Given the description of an element on the screen output the (x, y) to click on. 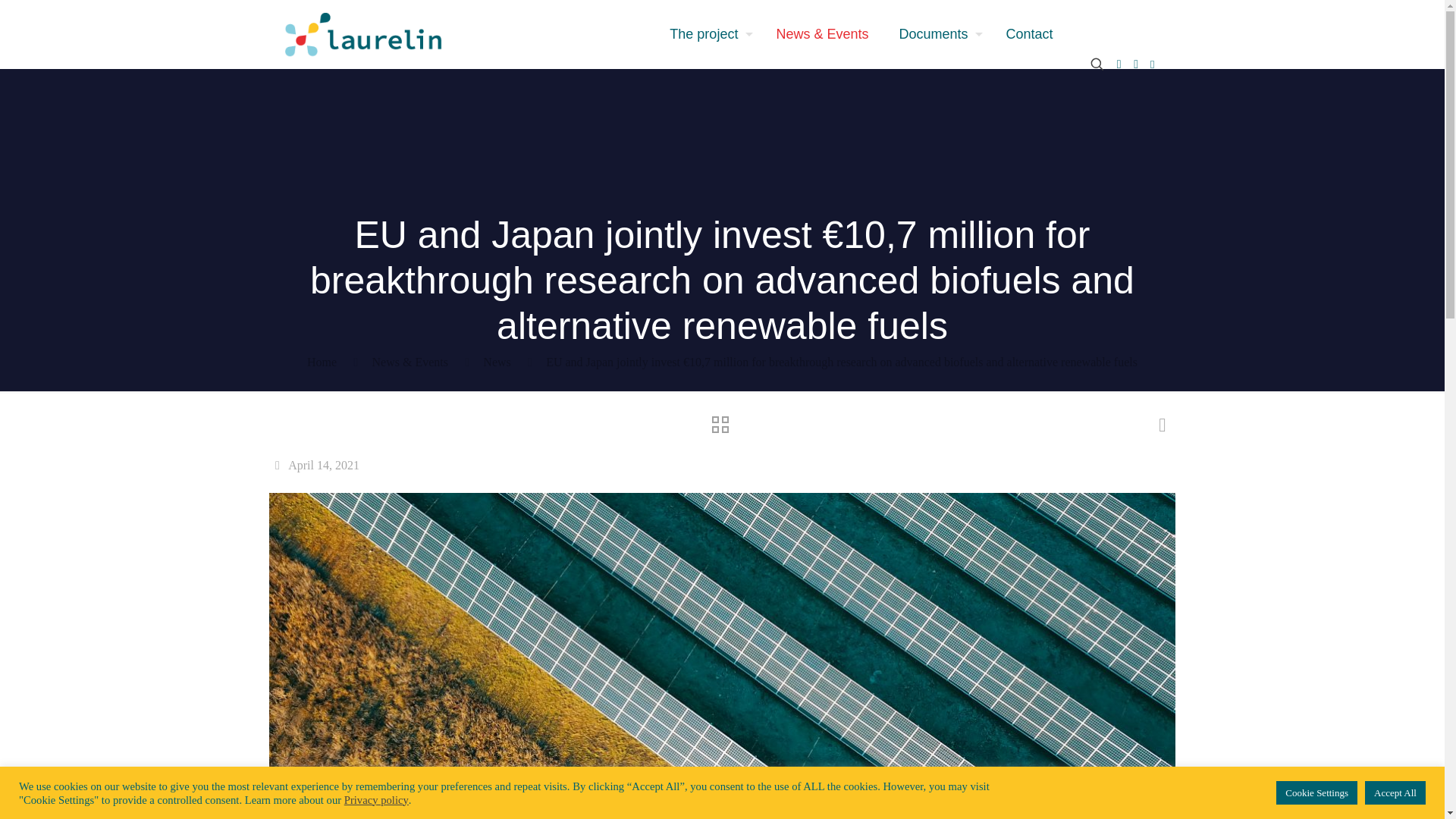
Documents (936, 33)
Laurelin (362, 33)
News (497, 361)
Home (321, 361)
Newsletter (1152, 63)
LinkedIn (1135, 63)
Contact (1028, 33)
Twitter (1118, 63)
The project (706, 33)
